Given the description of an element on the screen output the (x, y) to click on. 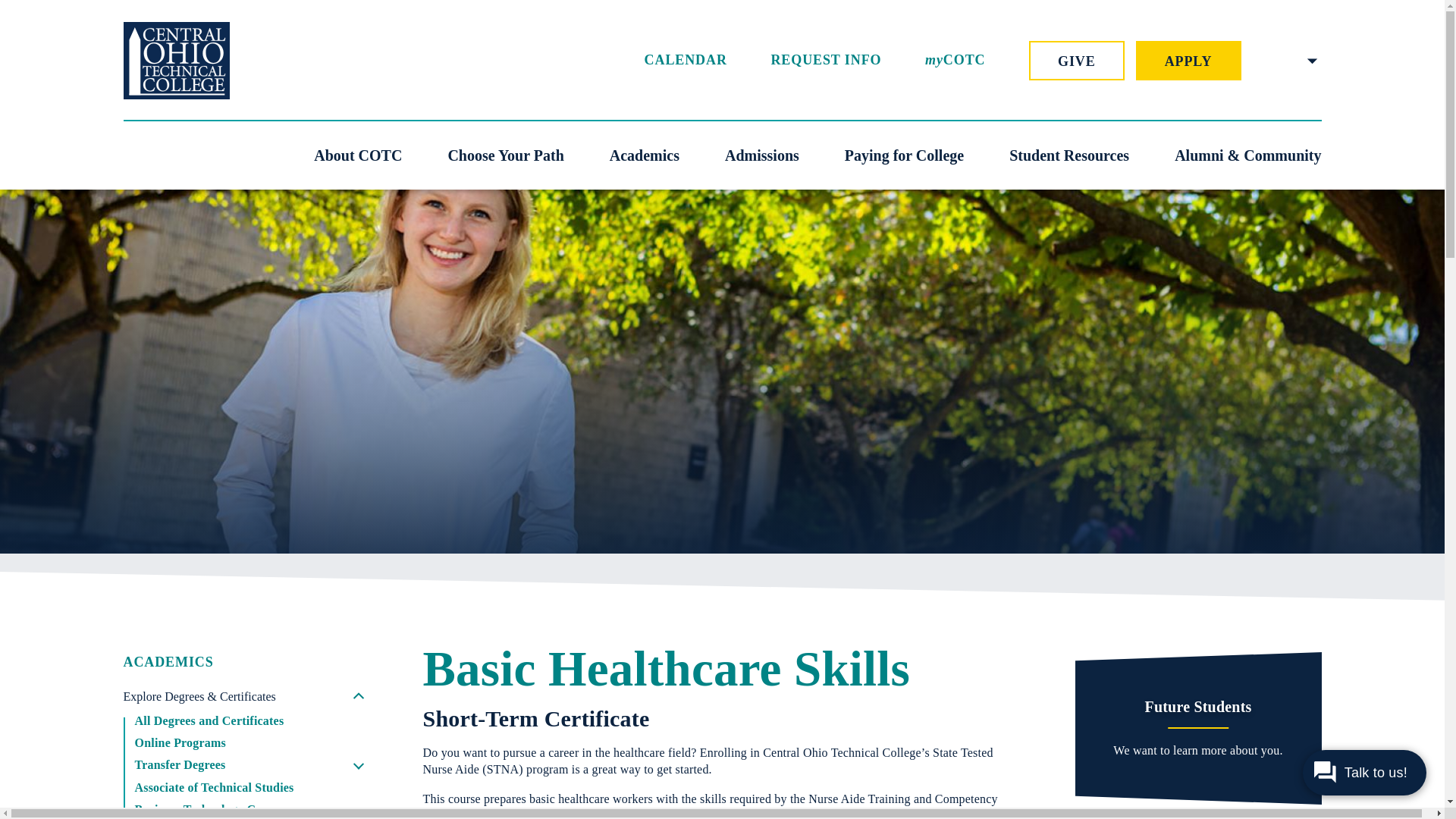
Choose Your Path (504, 155)
APPLY (1188, 60)
Academics (644, 155)
About COTC (357, 155)
About COTC (357, 155)
myCOTC (954, 60)
GIVE (1076, 60)
Choose Your Path (504, 155)
REQUEST INFO (825, 60)
CALENDAR (685, 60)
Academics (644, 155)
